Given the description of an element on the screen output the (x, y) to click on. 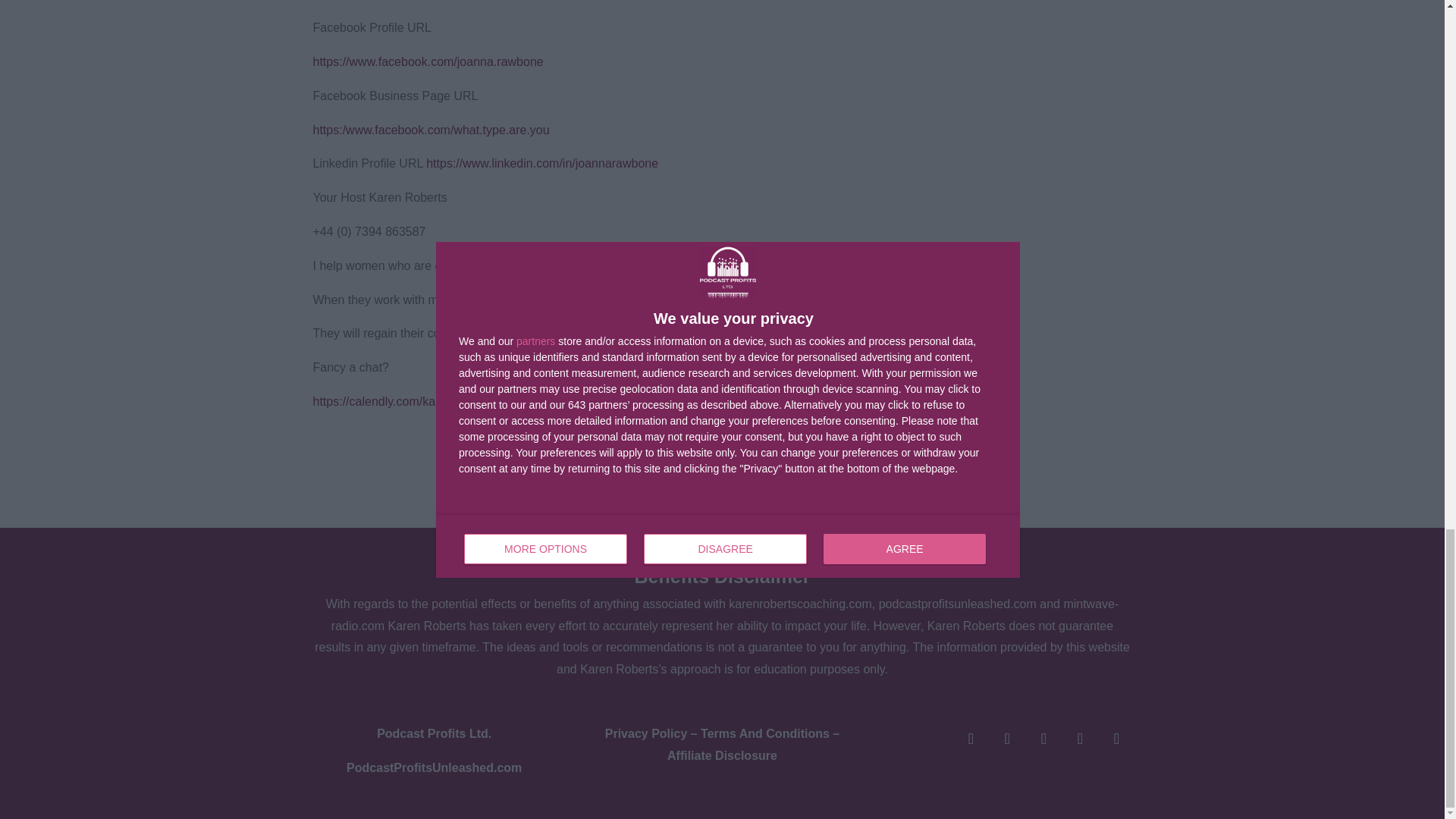
Follow on Youtube (1115, 738)
Follow on Instagram (1079, 738)
Follow on LinkedIn (970, 738)
PodcastProfitsUnleashed.com (433, 767)
Follow on X (1042, 738)
Follow on Facebook (1006, 738)
